Given the description of an element on the screen output the (x, y) to click on. 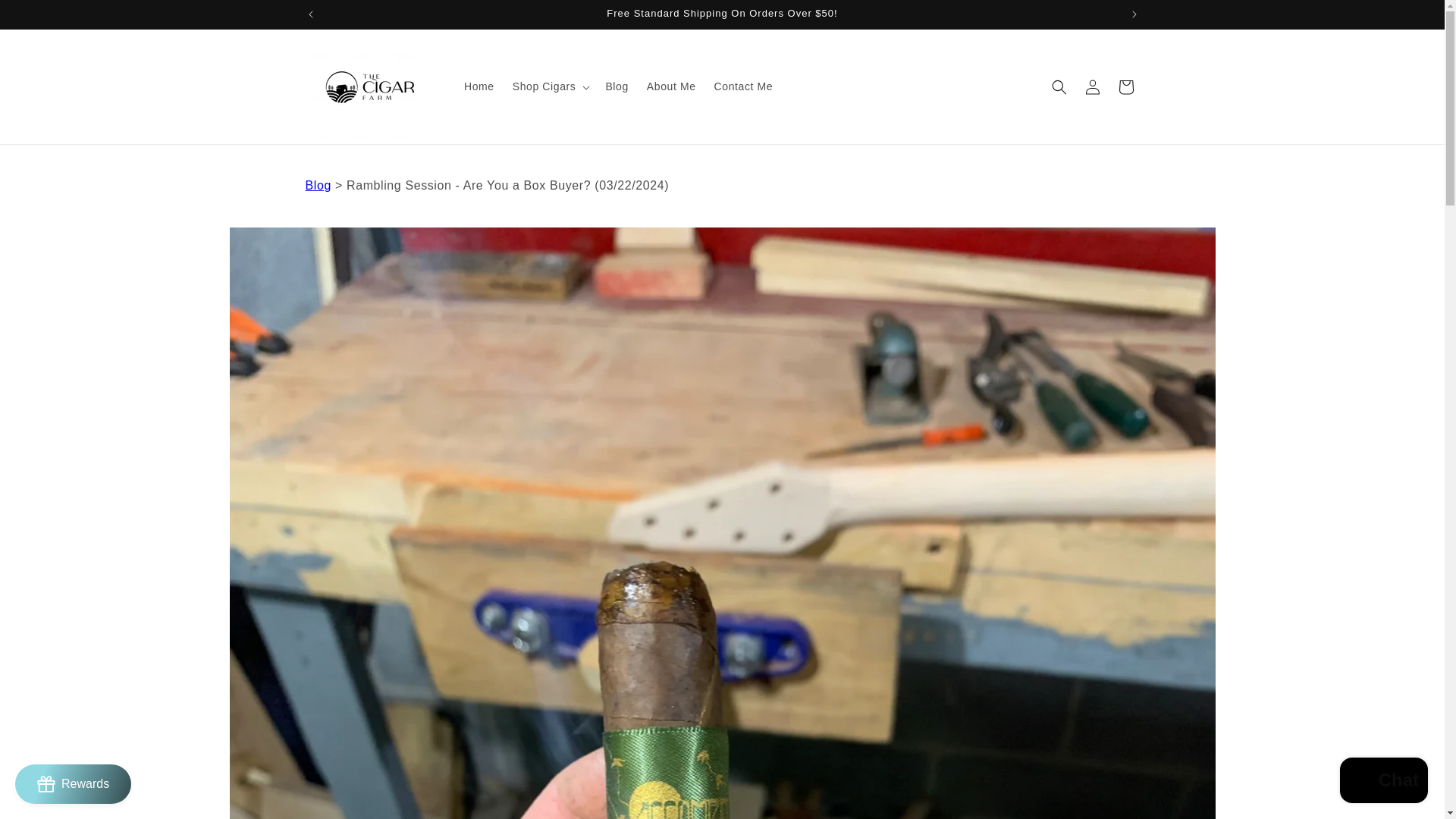
Log in (1091, 86)
Skip to content (45, 17)
Blog (317, 185)
About Me (670, 86)
Blog (616, 86)
Cart (1124, 86)
Shopify online store chat (1383, 781)
Contact Me (743, 86)
Home (478, 86)
